Given the description of an element on the screen output the (x, y) to click on. 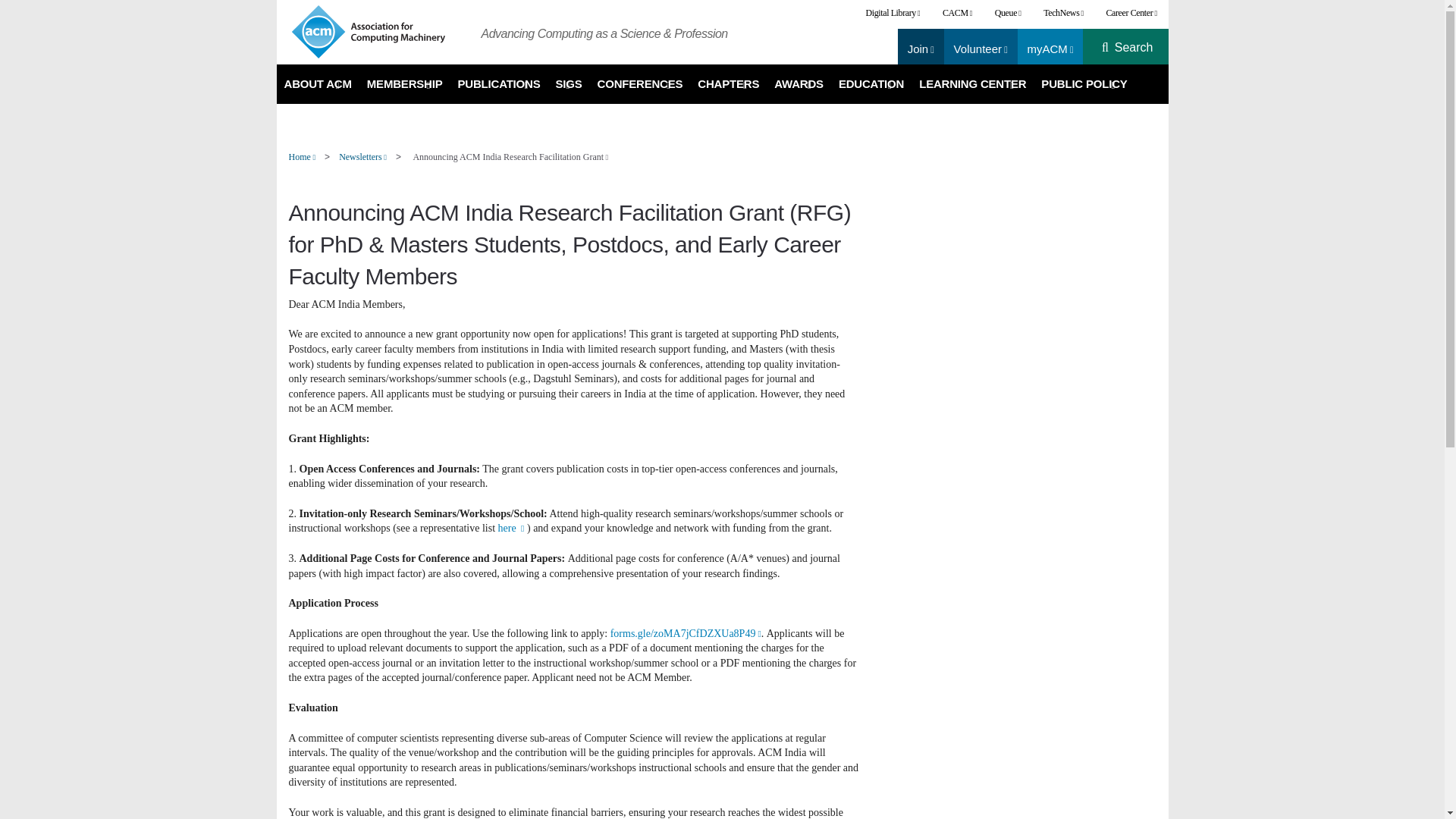
Career Center (1131, 13)
Queue (1008, 13)
Search (1134, 47)
Queue (1008, 13)
CACM (957, 13)
Digital Library (892, 13)
Volunteer (980, 48)
TechNews (1063, 13)
TechNews (1063, 13)
CACM (957, 13)
